Given the description of an element on the screen output the (x, y) to click on. 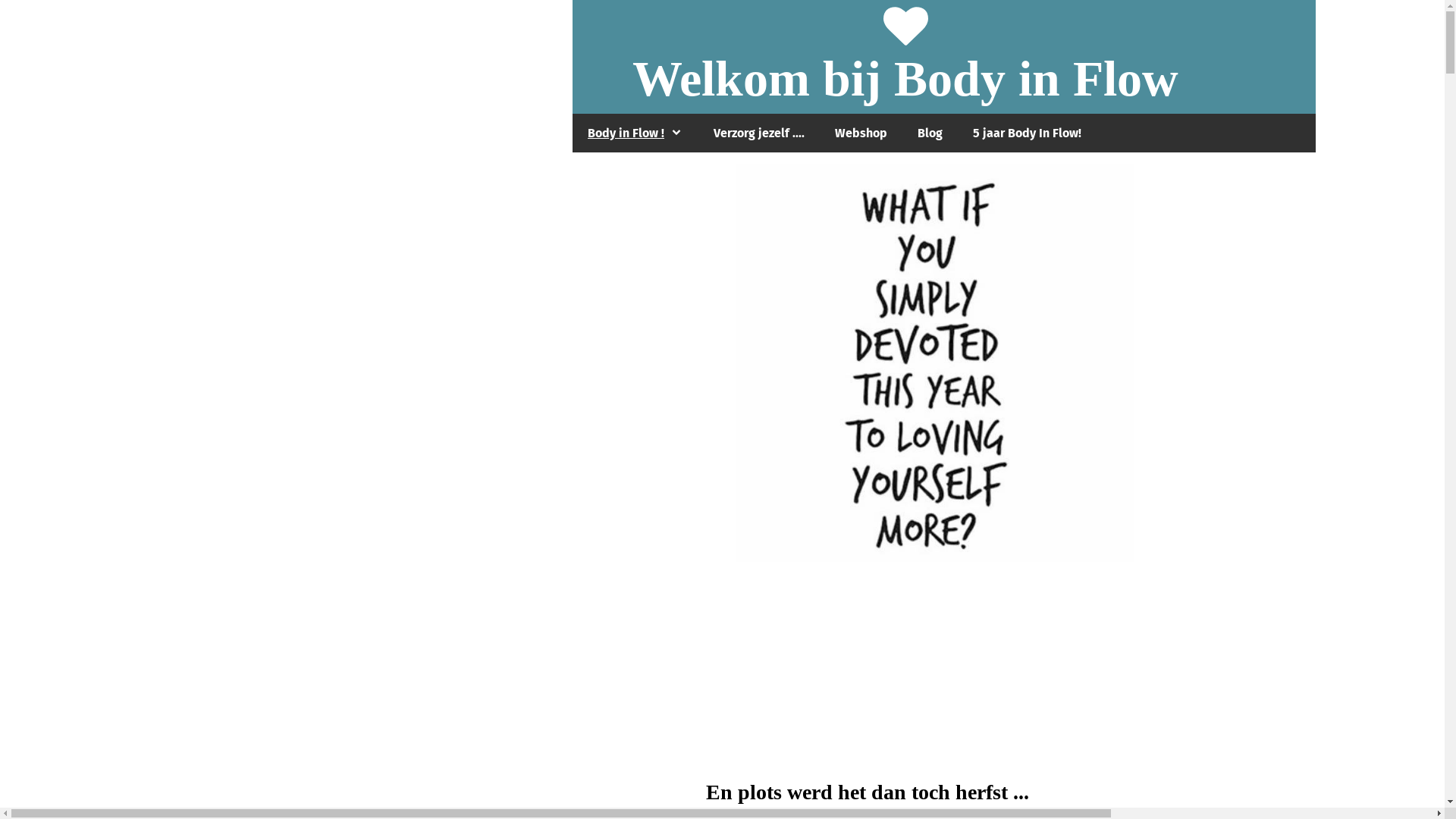
Body in Flow ! Element type: text (635, 132)
Welkom bij Body in Flow Element type: text (905, 77)
Webshop Element type: text (860, 132)
Verzorg jezelf .... Element type: text (758, 132)
i284008264530080582 Element type: hover (934, 362)
Blog Element type: text (929, 132)
5 jaar Body In Flow! Element type: text (1026, 132)
